Given the description of an element on the screen output the (x, y) to click on. 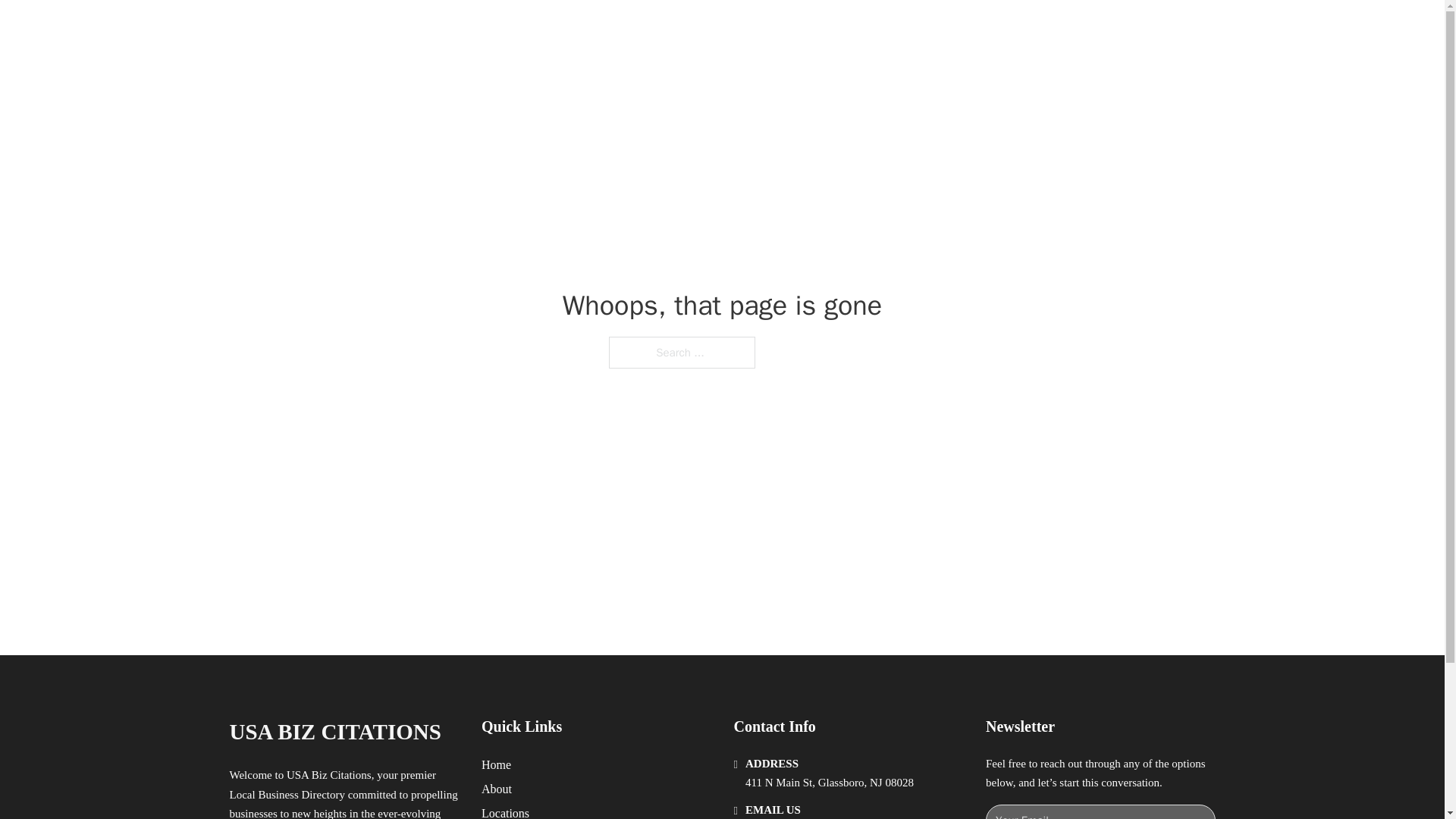
HOME (919, 29)
About (496, 788)
Locations (505, 811)
LOCATIONS (990, 29)
Home (496, 764)
USA BIZ CITATIONS (334, 732)
USA BIZ CITATIONS (406, 28)
